Given the description of an element on the screen output the (x, y) to click on. 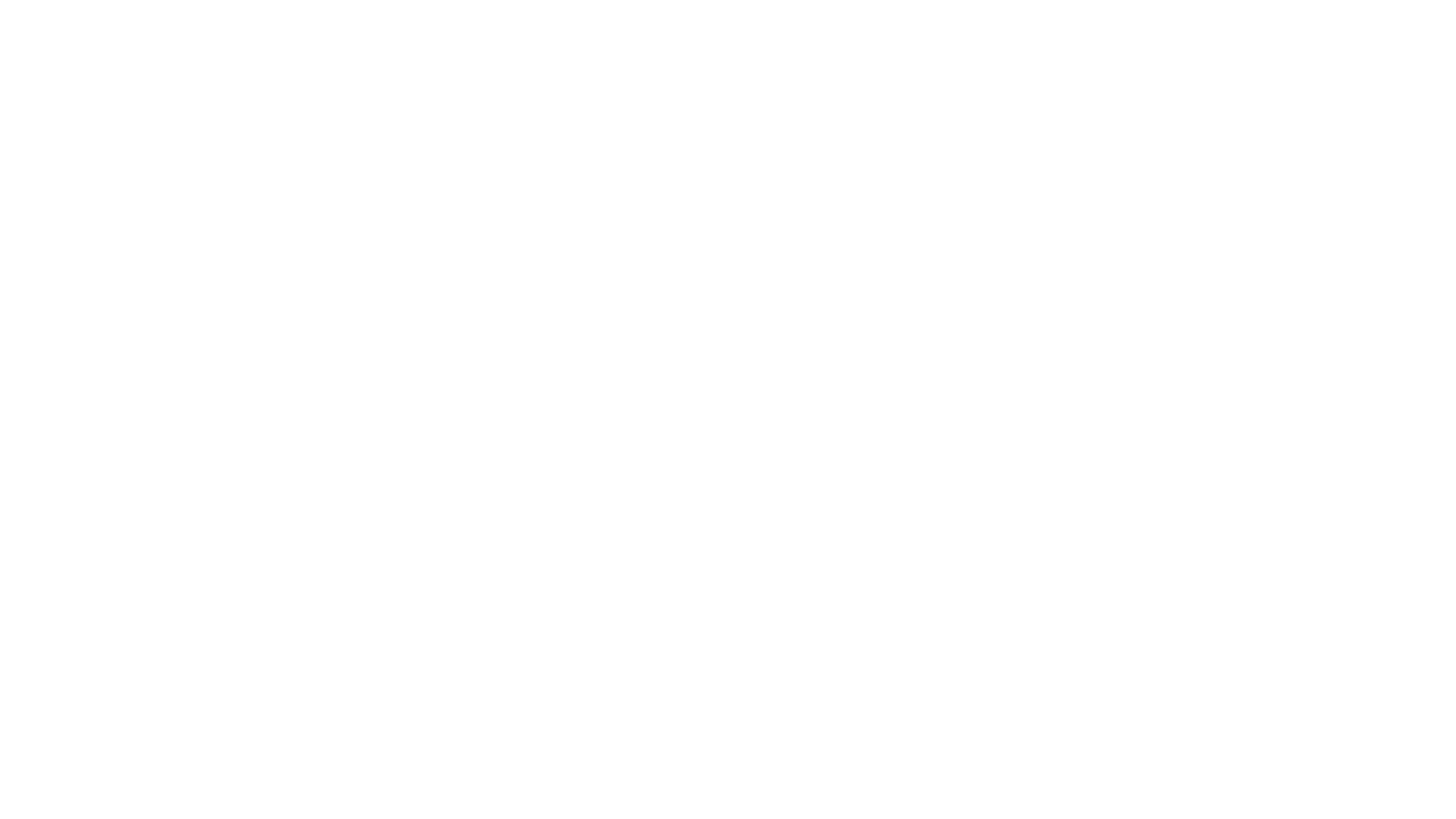
Cloudflare Element type: text (798, 799)
